Given the description of an element on the screen output the (x, y) to click on. 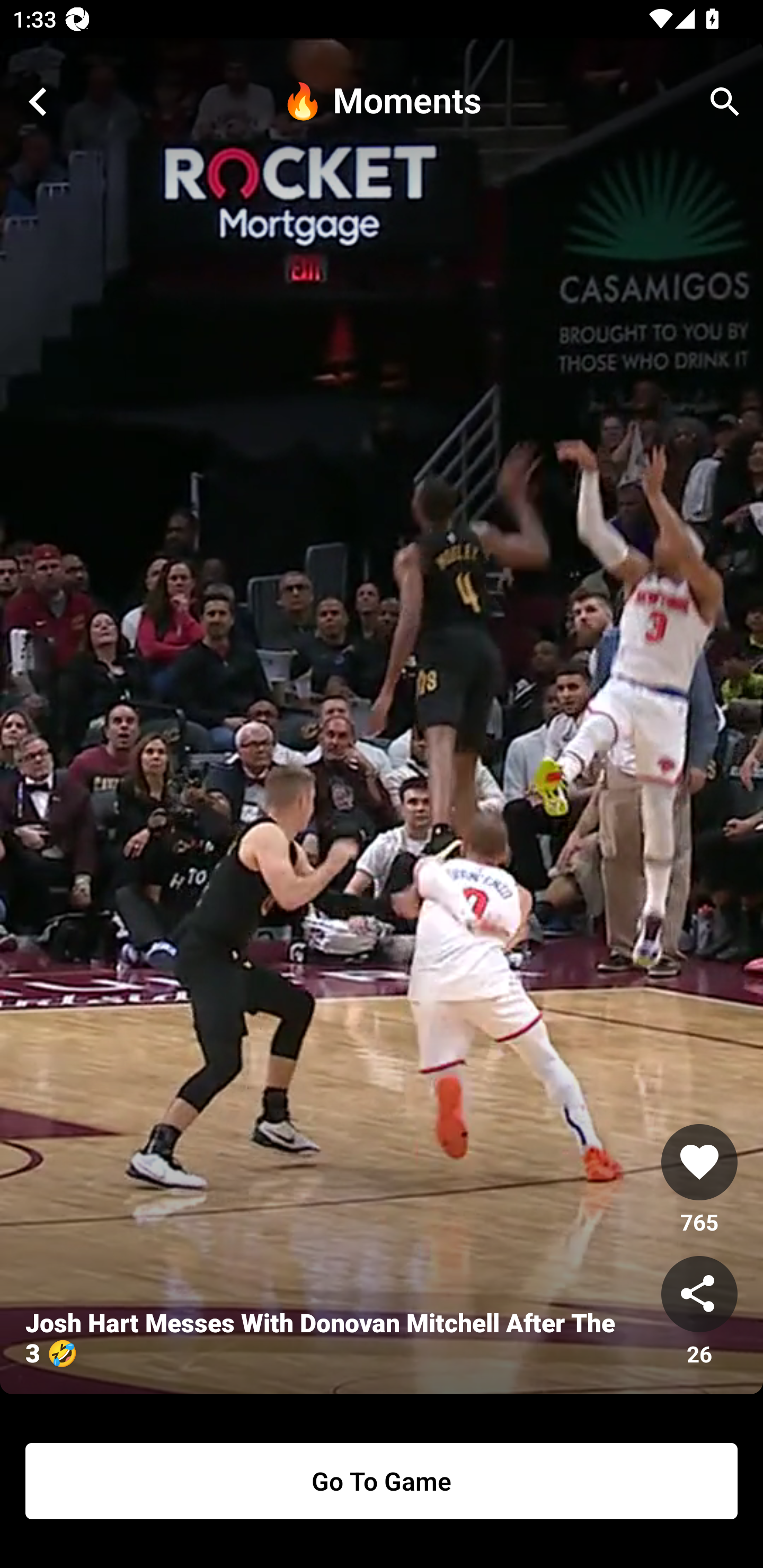
close (38, 101)
search (724, 101)
like 765 765 Likes (699, 1180)
share 26 26 Shares (699, 1311)
Go To Game (381, 1480)
